Given the description of an element on the screen output the (x, y) to click on. 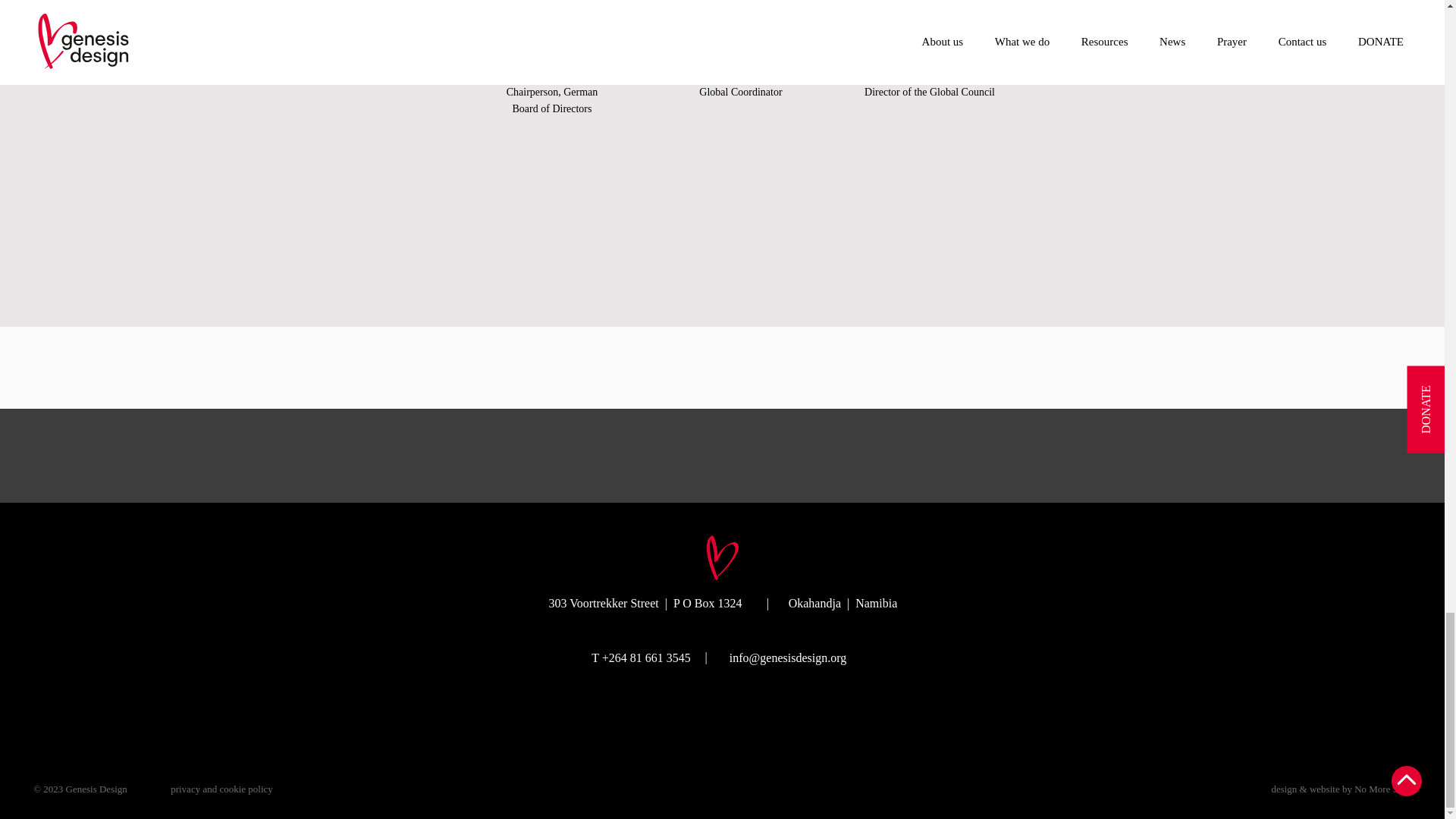
privacy and cookie policy (221, 788)
Jos Holtzhausen (741, 23)
Jos Holtzhausen (930, 23)
Robert Metz (553, 23)
